Given the description of an element on the screen output the (x, y) to click on. 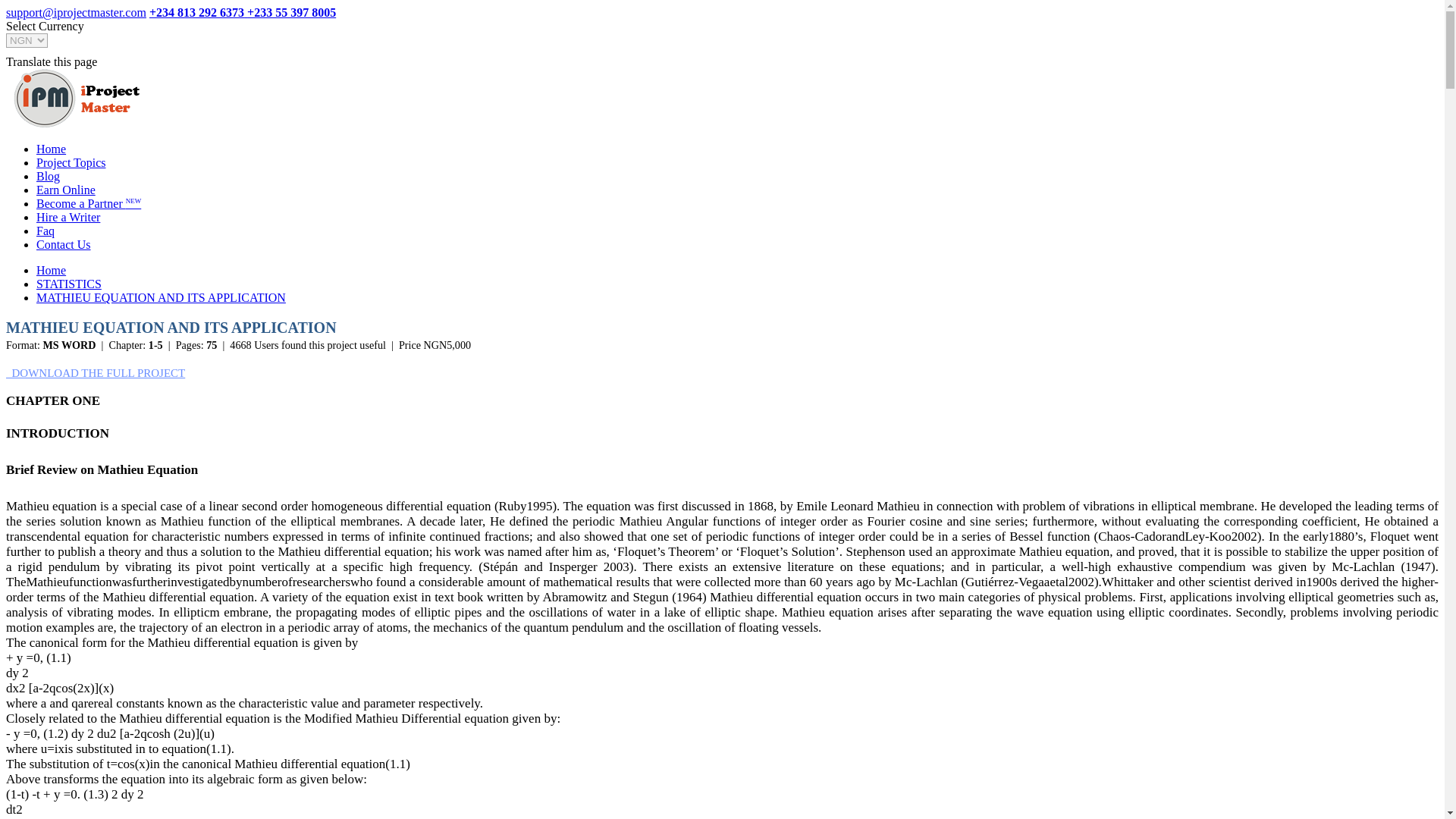
Faq (45, 230)
Home (50, 148)
Project Topics (70, 162)
Project Topics (77, 97)
Hire a Writer (68, 216)
Contact Us (63, 244)
MATHIEU EQUATION AND ITS APPLICATION (160, 297)
  DOWNLOAD THE FULL PROJECT (94, 372)
Earn Online (66, 189)
STATISTICS (68, 283)
Blog (47, 175)
Become a Partner NEW (88, 203)
Home (50, 269)
